Given the description of an element on the screen output the (x, y) to click on. 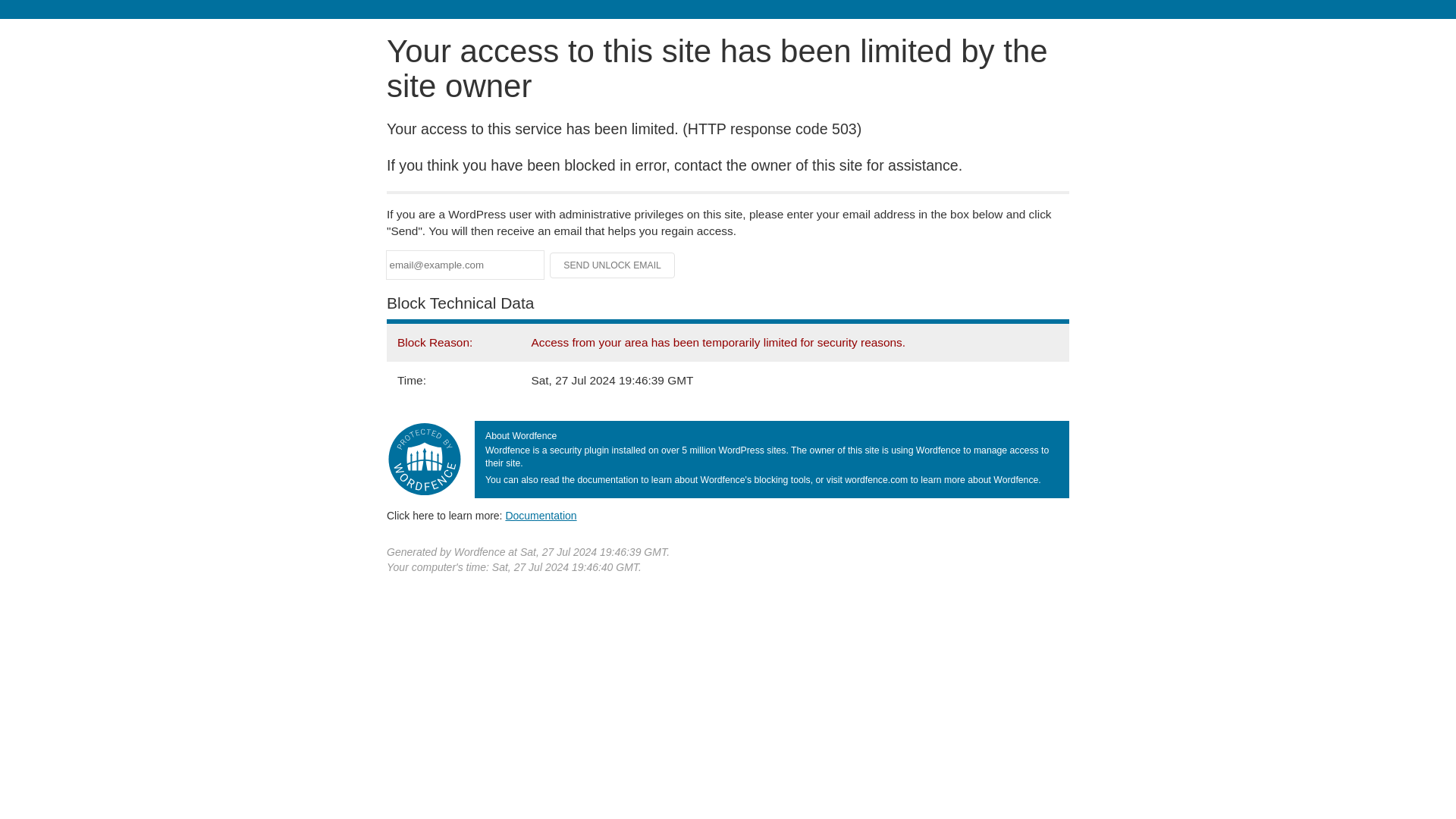
Send Unlock Email (612, 265)
Send Unlock Email (612, 265)
Documentation (540, 515)
